Given the description of an element on the screen output the (x, y) to click on. 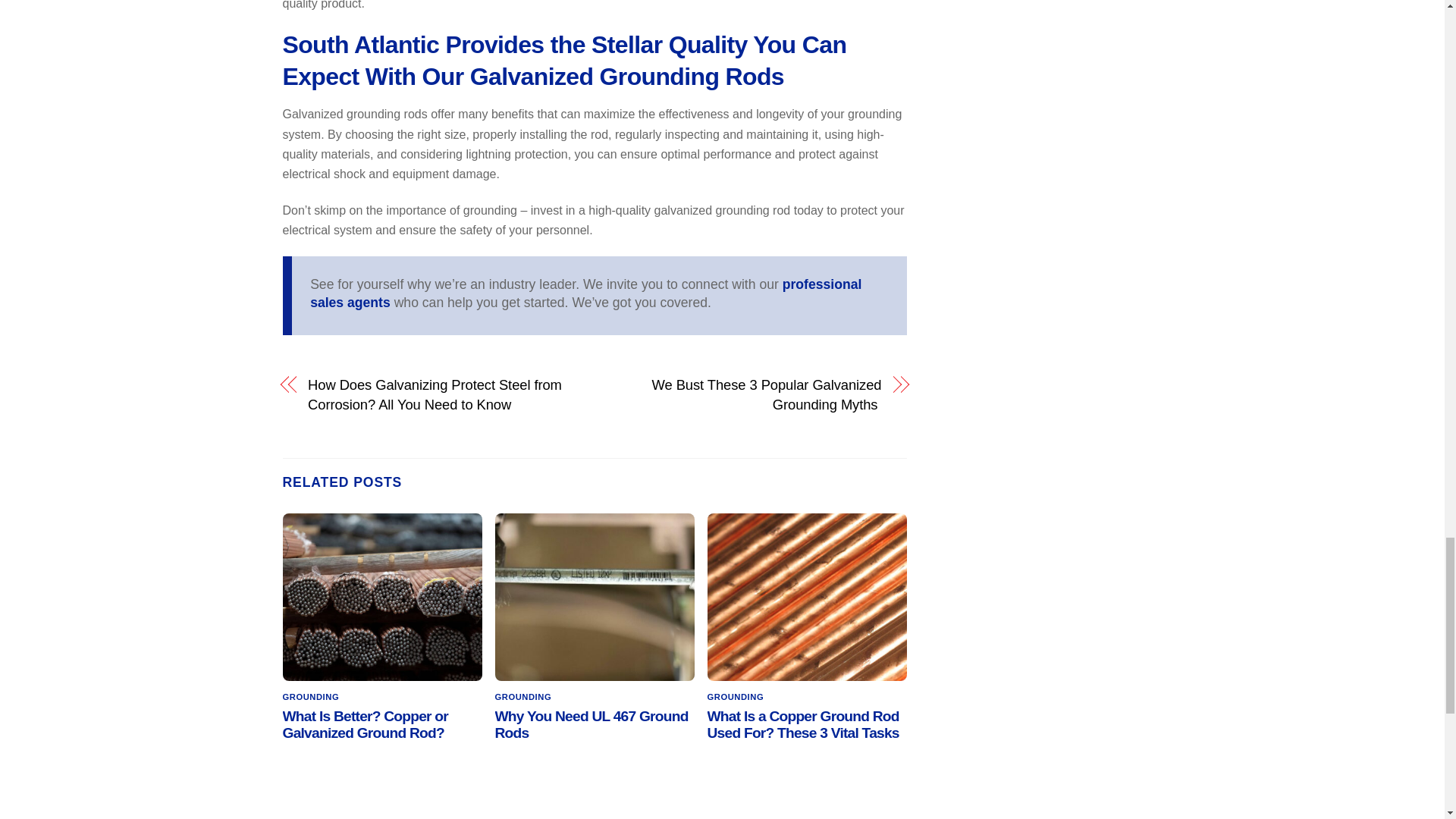
What Is Better? Copper or Galvanized Ground Rod? (365, 724)
why-use-UL-467-ground-rods (595, 596)
professional sales agents (585, 293)
what-is-a-copper-ground-rod-used-for (807, 596)
We Bust These 3 Popular Galvanized Grounding Myths  (746, 395)
GROUNDING (310, 696)
copper-clad-ground-rod (381, 596)
